Given the description of an element on the screen output the (x, y) to click on. 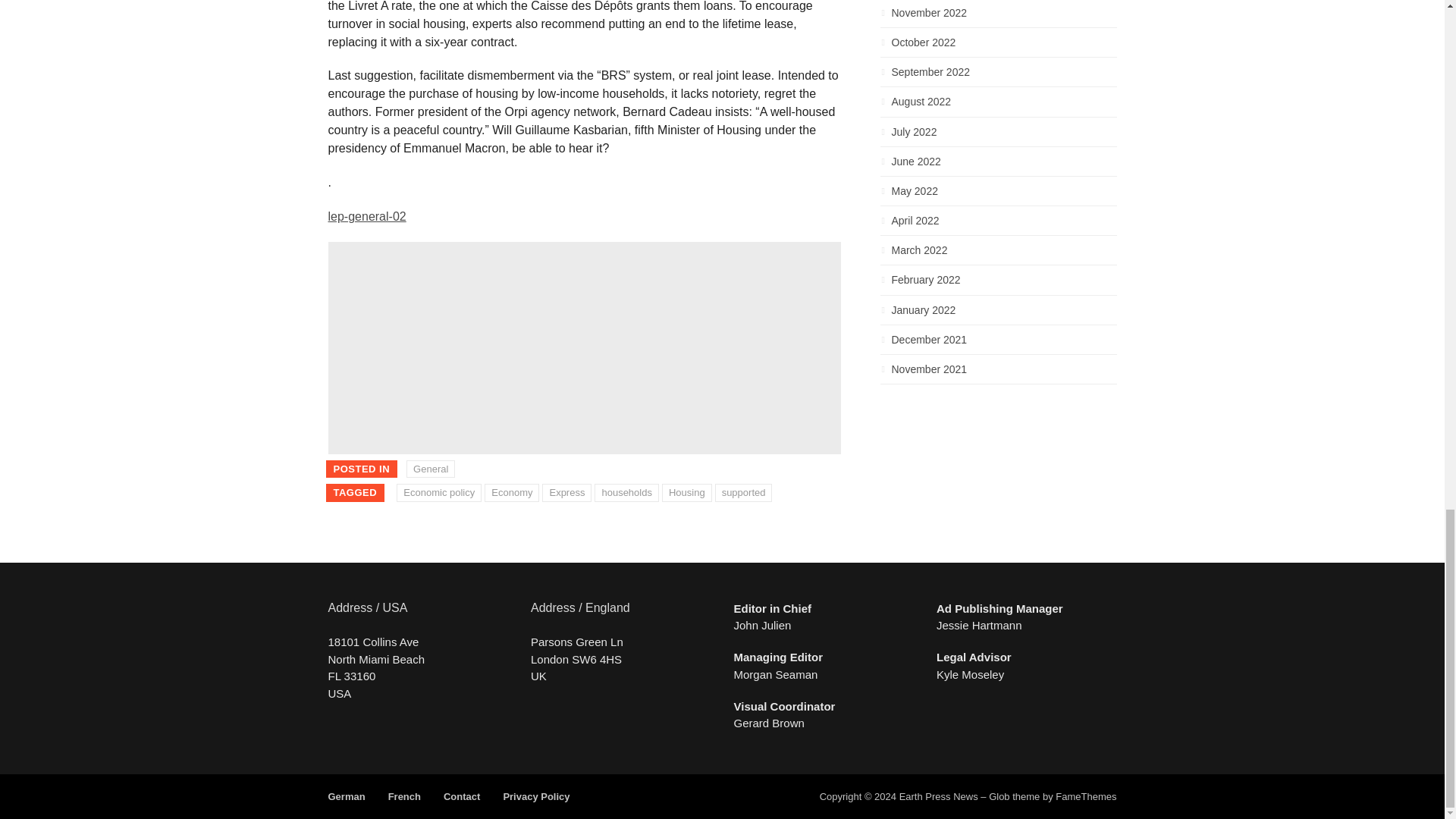
supported (743, 493)
households (626, 493)
Economy (511, 493)
Economic policy (438, 493)
lep-general-02 (366, 215)
Housing (686, 493)
General (430, 469)
Express (566, 493)
